Given the description of an element on the screen output the (x, y) to click on. 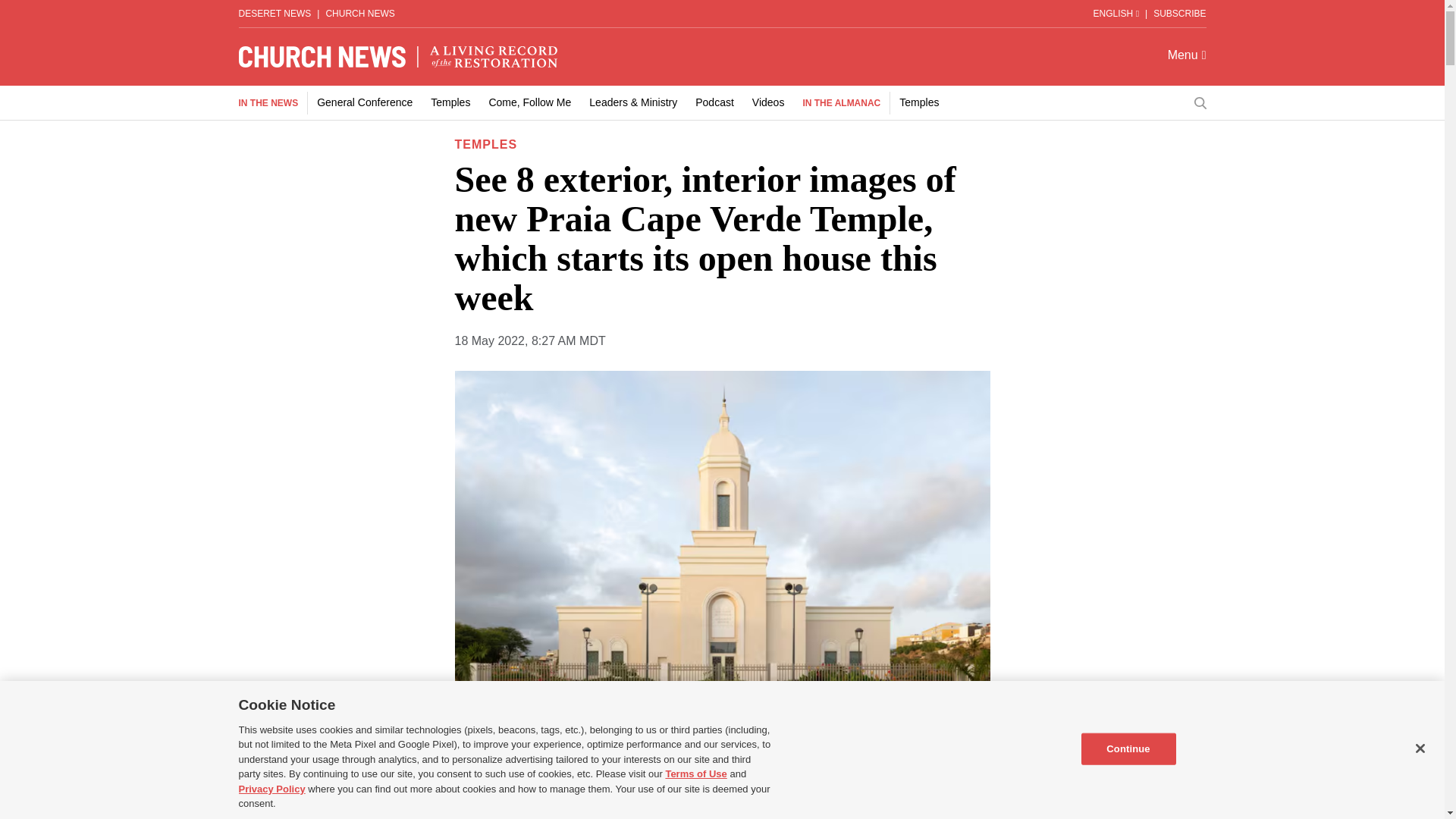
Temples (450, 102)
Podcast (714, 102)
DESERET NEWS (274, 13)
Videos (768, 102)
TEMPLES (486, 144)
CHURCH NEWS (359, 13)
SUBSCRIBE (1179, 13)
Scott Taylor (569, 786)
Come, Follow Me (528, 102)
Temples (919, 102)
General Conference (364, 102)
